Given the description of an element on the screen output the (x, y) to click on. 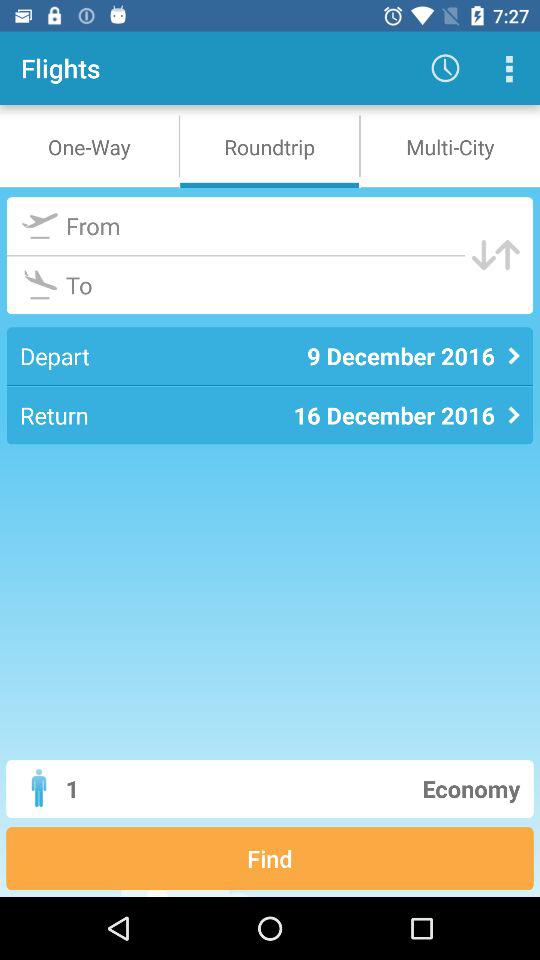
view page options (508, 67)
